Given the description of an element on the screen output the (x, y) to click on. 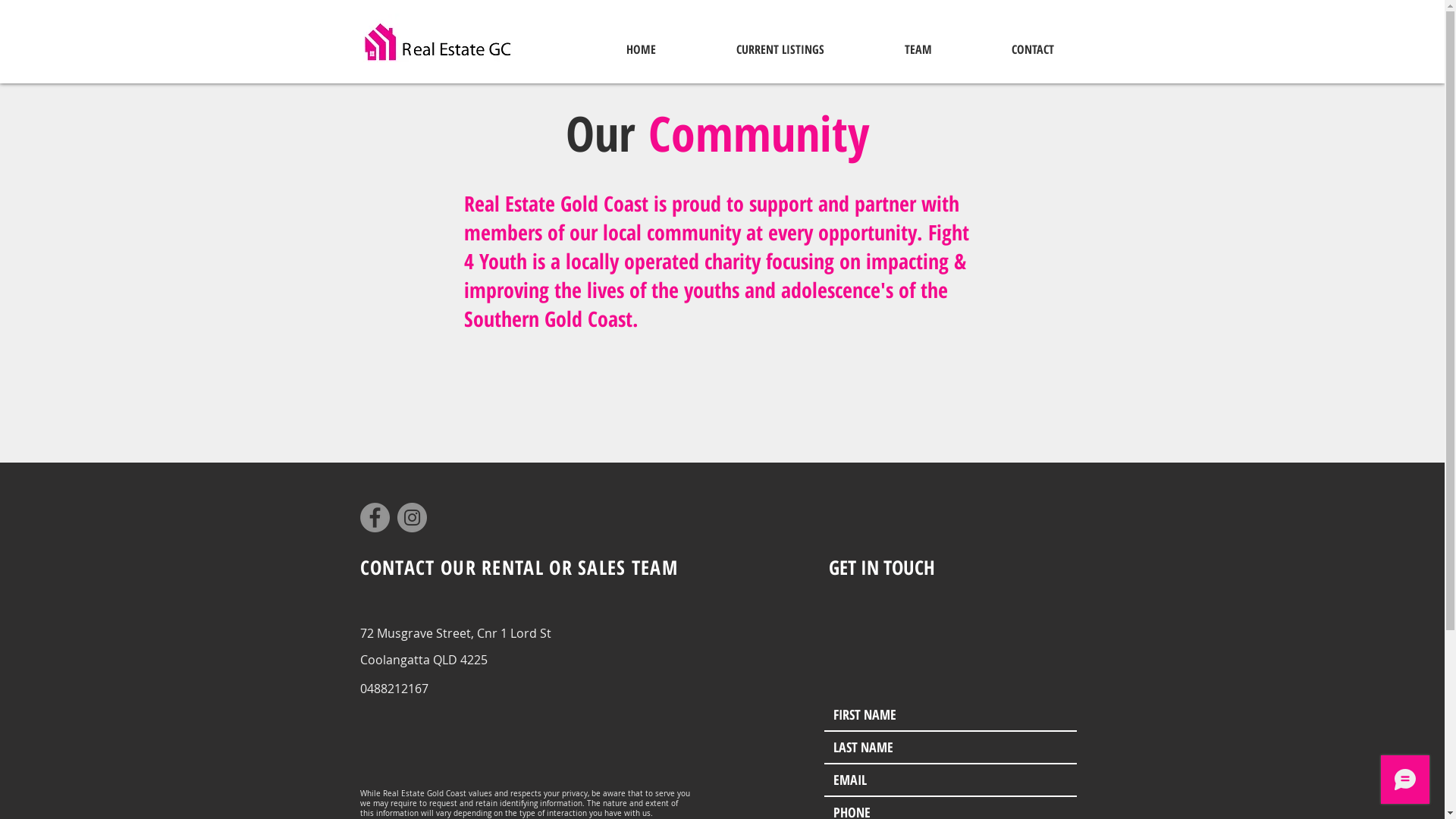
TEAM Element type: text (918, 49)
CURRENT LISTINGS Element type: text (780, 49)
CONTACT Element type: text (1033, 49)
HOME Element type: text (640, 49)
